Given the description of an element on the screen output the (x, y) to click on. 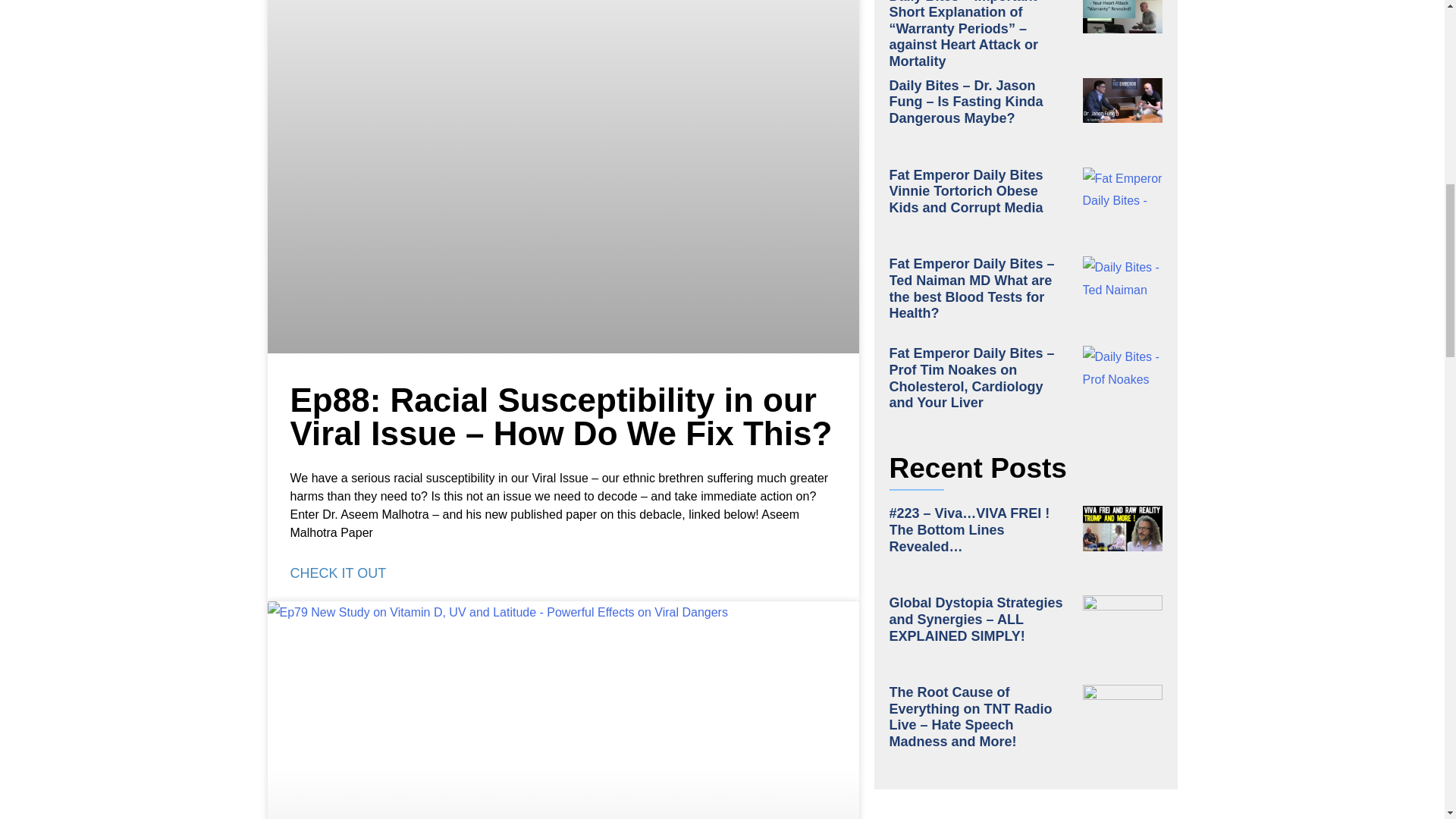
CHECK IT OUT (337, 573)
